Given the description of an element on the screen output the (x, y) to click on. 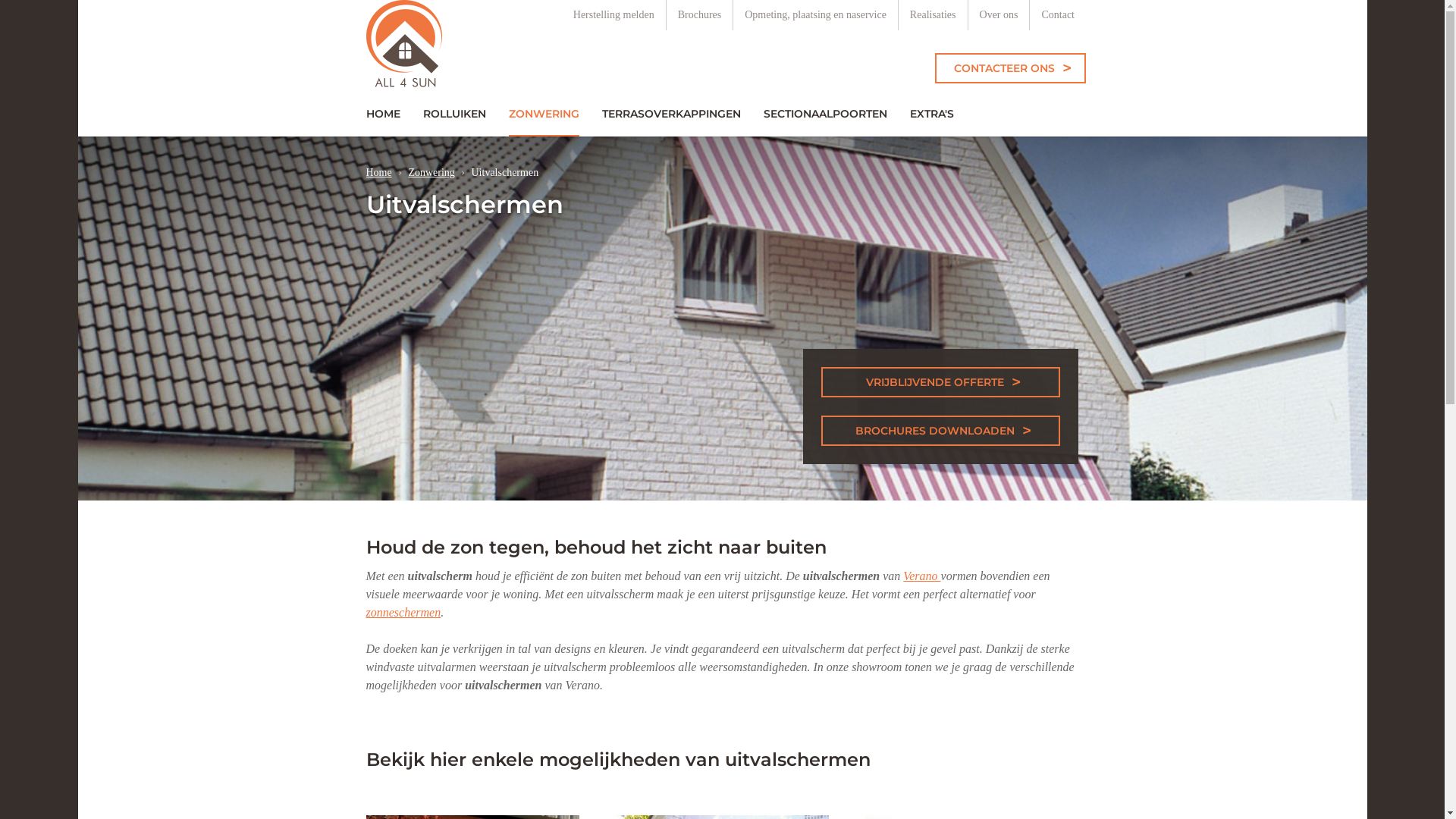
EXTRA'S Element type: text (930, 113)
HOME Element type: text (382, 113)
BROCHURES DOWNLOADEN Element type: text (940, 430)
Zonwering Element type: text (430, 172)
TERRASOVERKAPPINGEN Element type: text (670, 113)
Verano Element type: text (921, 575)
CONTACTEER ONS Element type: text (1009, 68)
Home Element type: text (378, 172)
ROLLUIKEN Element type: text (453, 113)
Uitvalschermen Element type: text (505, 172)
Contact Element type: text (1057, 15)
Opmeting, plaatsing en naservice Element type: text (815, 15)
SECTIONAALPOORTEN Element type: text (825, 113)
Realisaties Element type: text (932, 15)
ZONWERING Element type: text (543, 113)
Brochures Element type: text (699, 15)
Herstelling melden Element type: text (613, 15)
All4Sun | Keerbergen Element type: text (403, 45)
Over ons Element type: text (998, 15)
zonneschermen Element type: text (402, 611)
VRIJBLIJVENDE OFFERTE Element type: text (940, 382)
